Given the description of an element on the screen output the (x, y) to click on. 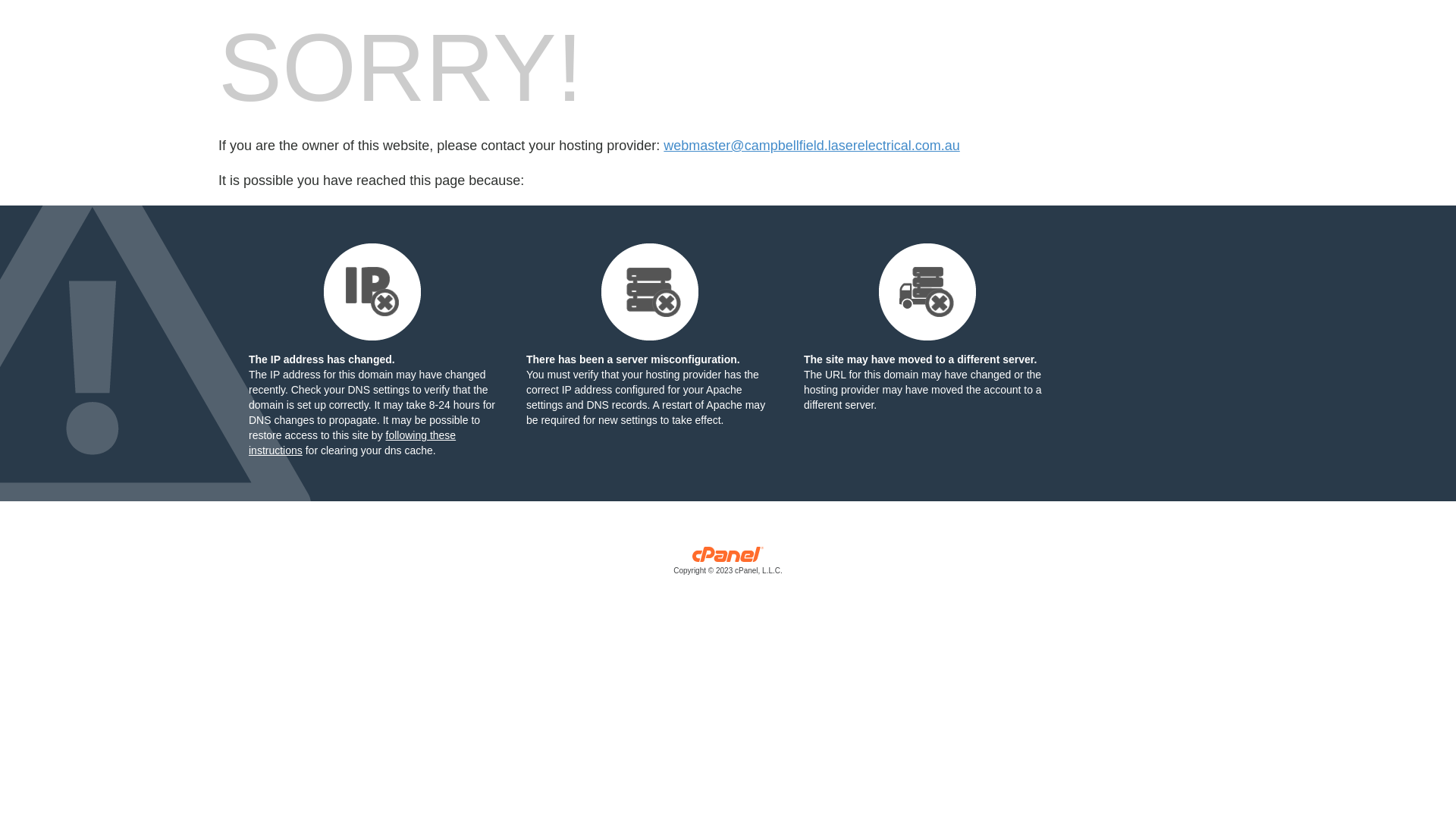
webmaster@campbellfield.laserelectrical.com.au Element type: text (811, 145)
following these instructions Element type: text (351, 442)
